Given the description of an element on the screen output the (x, y) to click on. 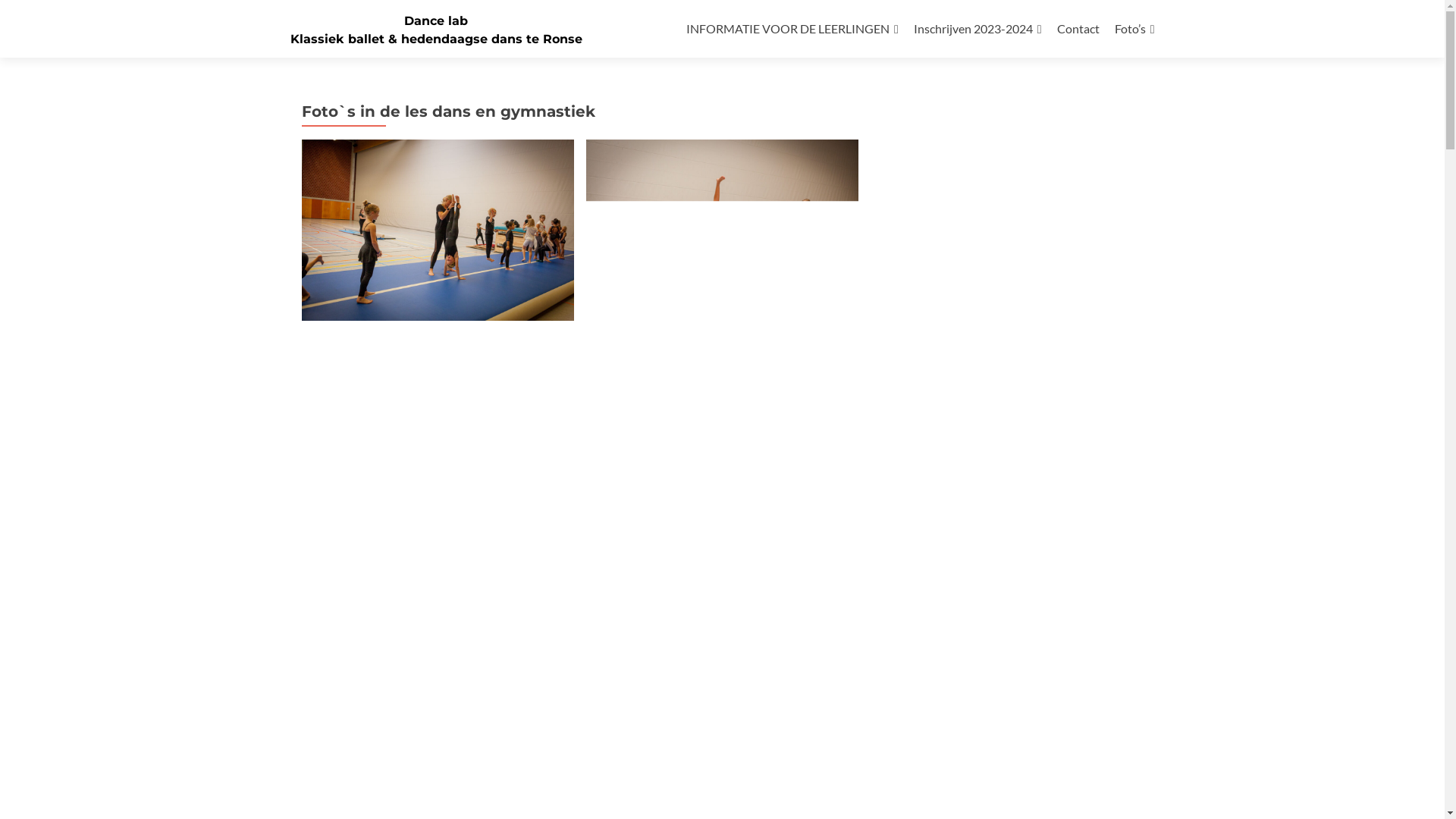
Dance lab Element type: text (435, 20)
INFORMATIE VOOR DE LEERLINGEN Element type: text (792, 28)
Inschrijven 2023-2024 Element type: text (977, 28)
Contact Element type: text (1078, 28)
